Given the description of an element on the screen output the (x, y) to click on. 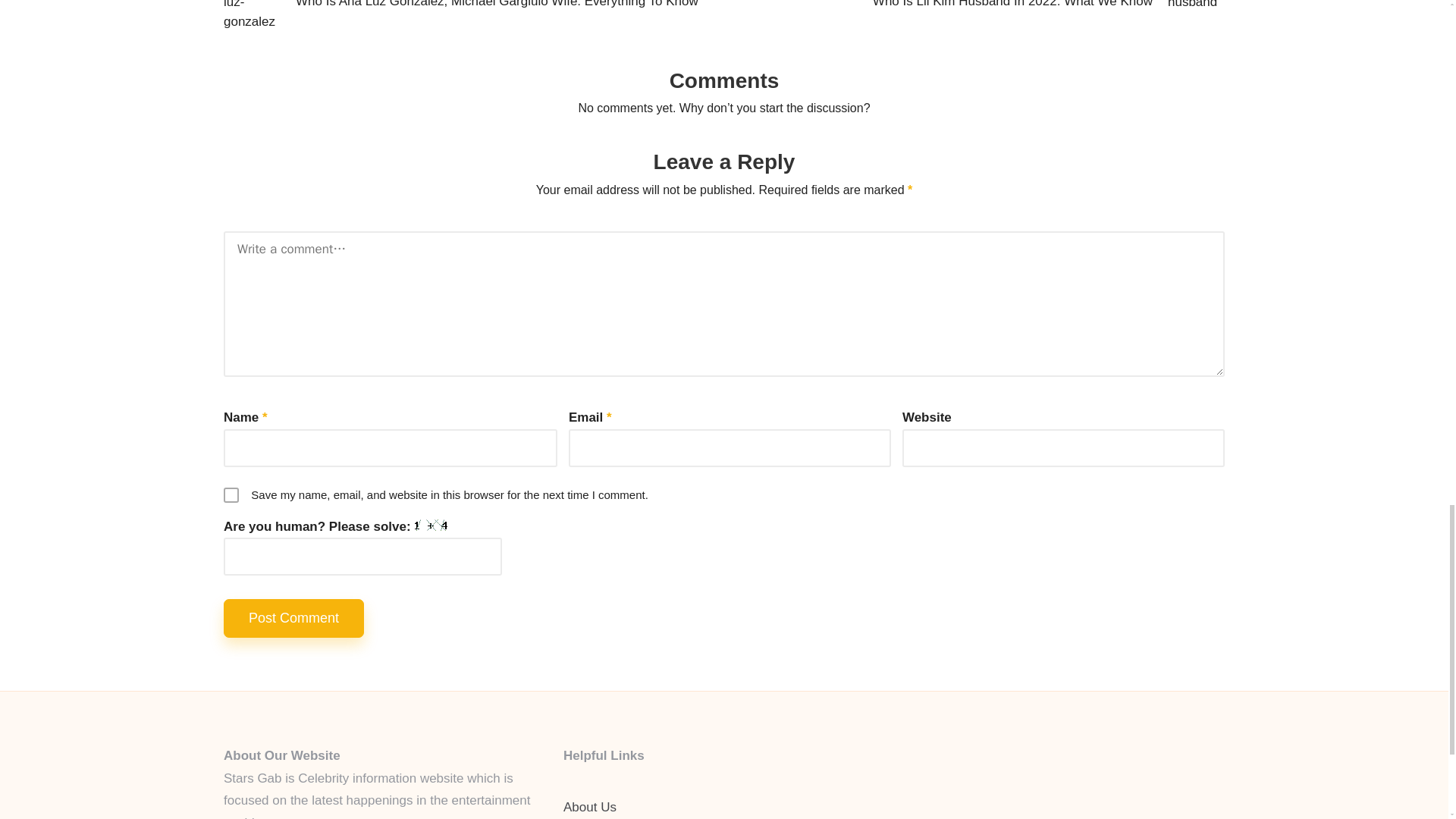
Post Comment (294, 618)
yes (231, 494)
